Given the description of an element on the screen output the (x, y) to click on. 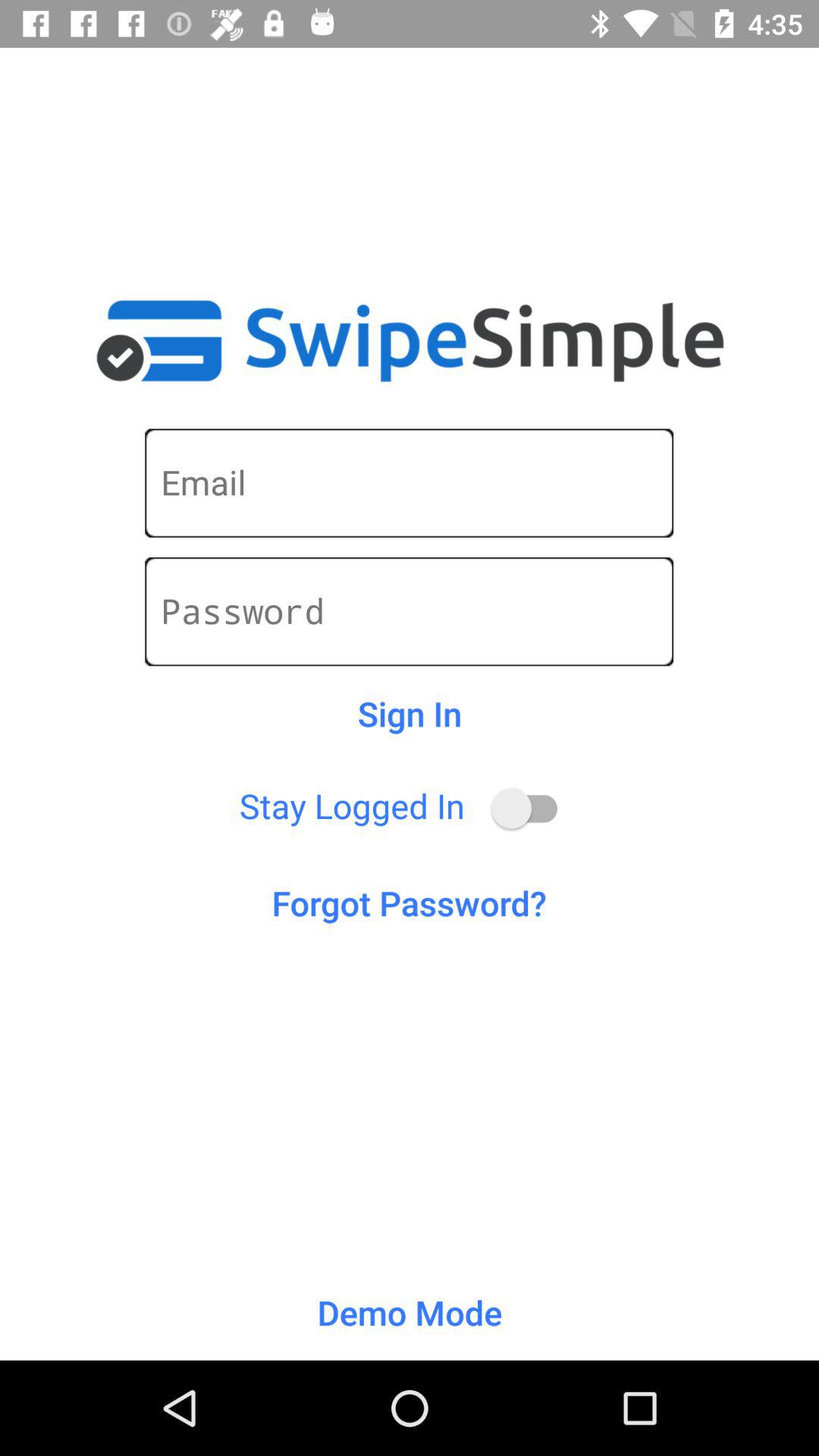
turn off demo mode item (409, 1312)
